Given the description of an element on the screen output the (x, y) to click on. 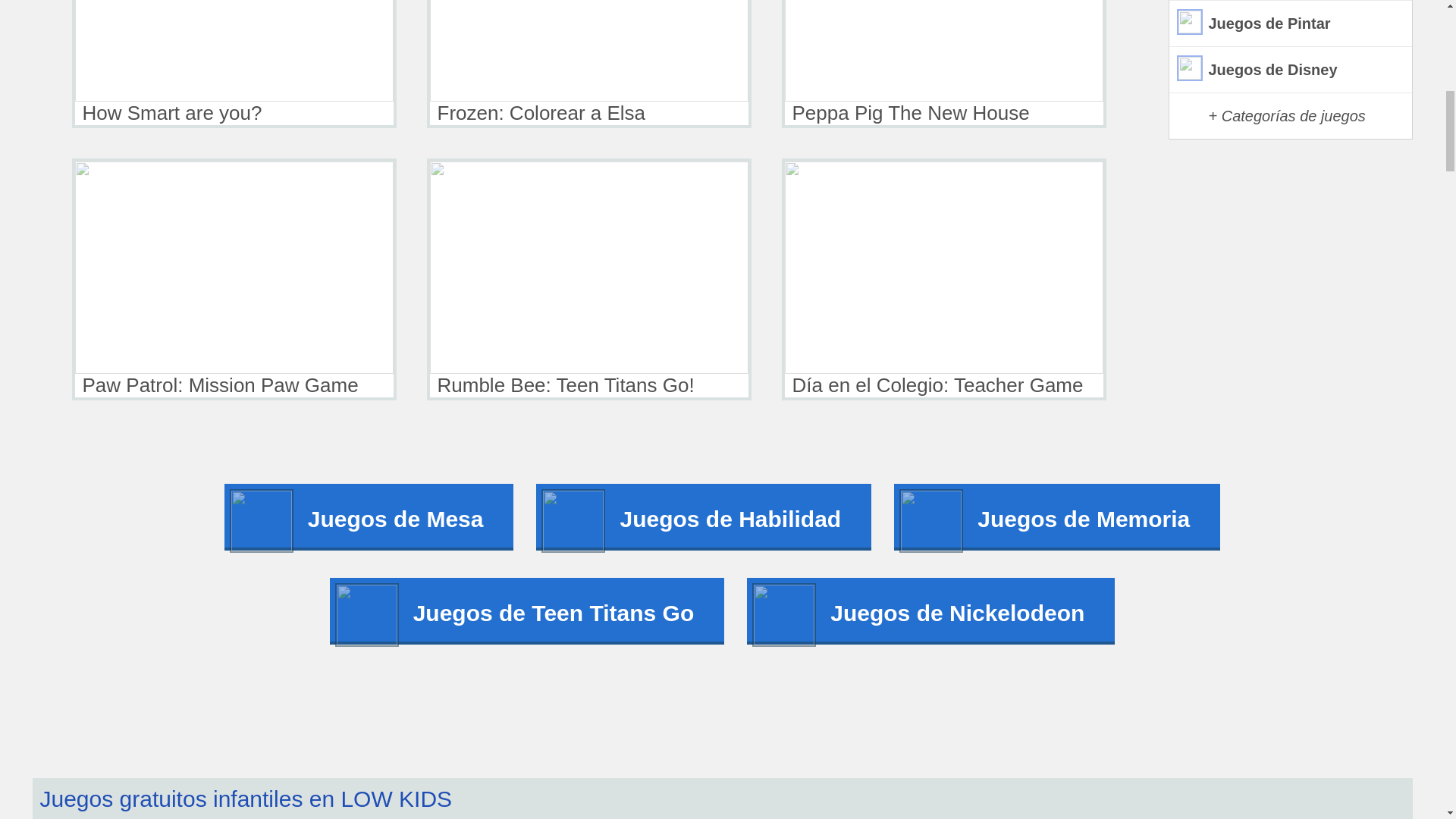
Juegos de Disney (1290, 69)
Frozen: Colorear a Elsa (588, 63)
How Smart are you? (233, 63)
Juegos de Nickelodeon (930, 611)
Juegos infantiles de Disney gratis (1290, 69)
Juegos infantiles de Pintar gratis (1290, 23)
Peppa Pig The New House (942, 63)
Juegos de Habilidad (702, 517)
Juegos de Memoria (1056, 517)
